Given the description of an element on the screen output the (x, y) to click on. 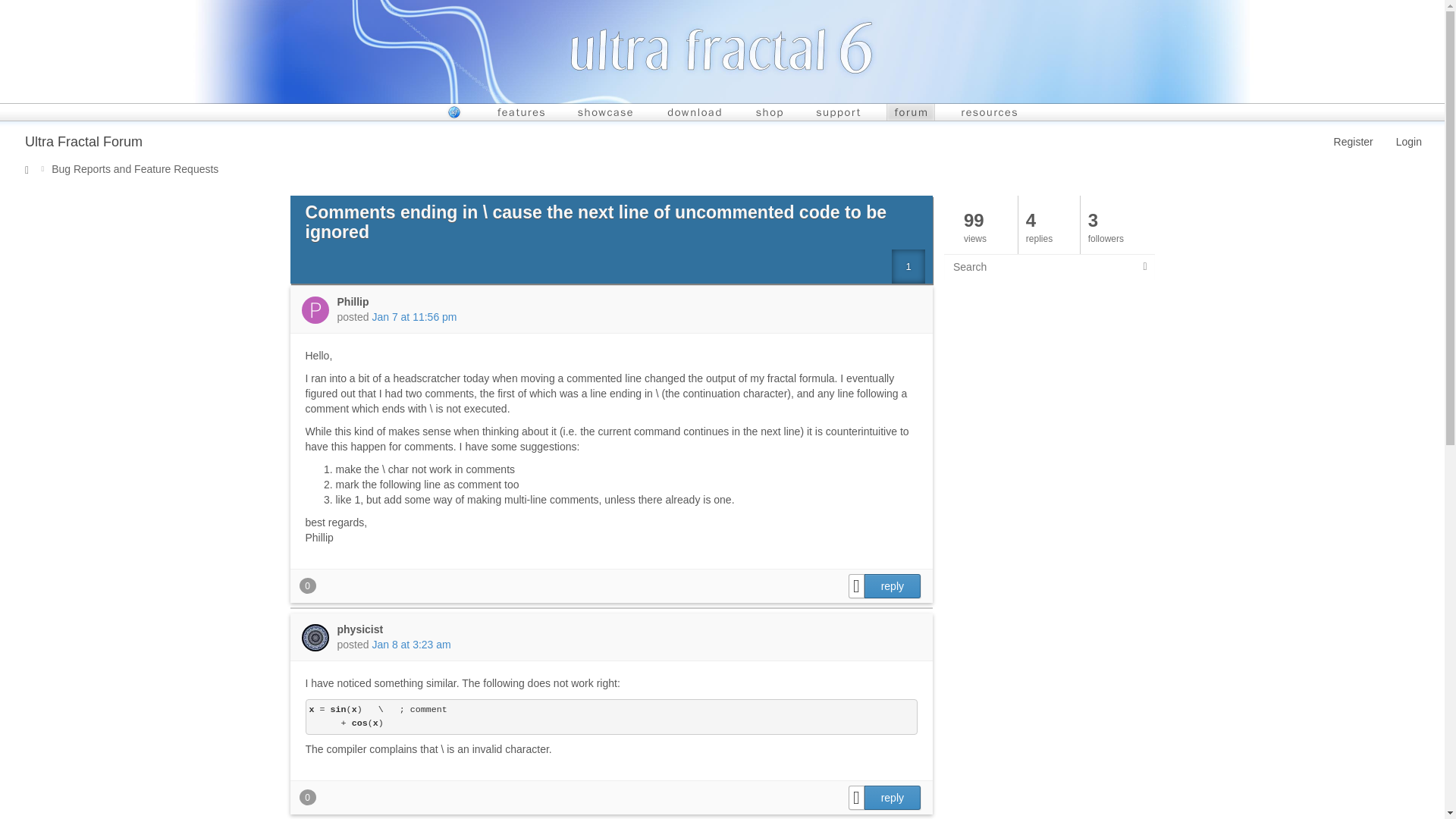
Bug Reports and Feature Requests (130, 169)
Login (1408, 141)
reputation points (306, 797)
1 (907, 266)
reputation points (306, 585)
Jan 8 at 3:23 am (410, 644)
Ultra Fractal Forum (76, 142)
Bug Reports and Feature Requests (130, 169)
Register (1353, 141)
Phillip (352, 301)
Jan 7 at 11:56 pm (414, 316)
physicist (359, 629)
